Given the description of an element on the screen output the (x, y) to click on. 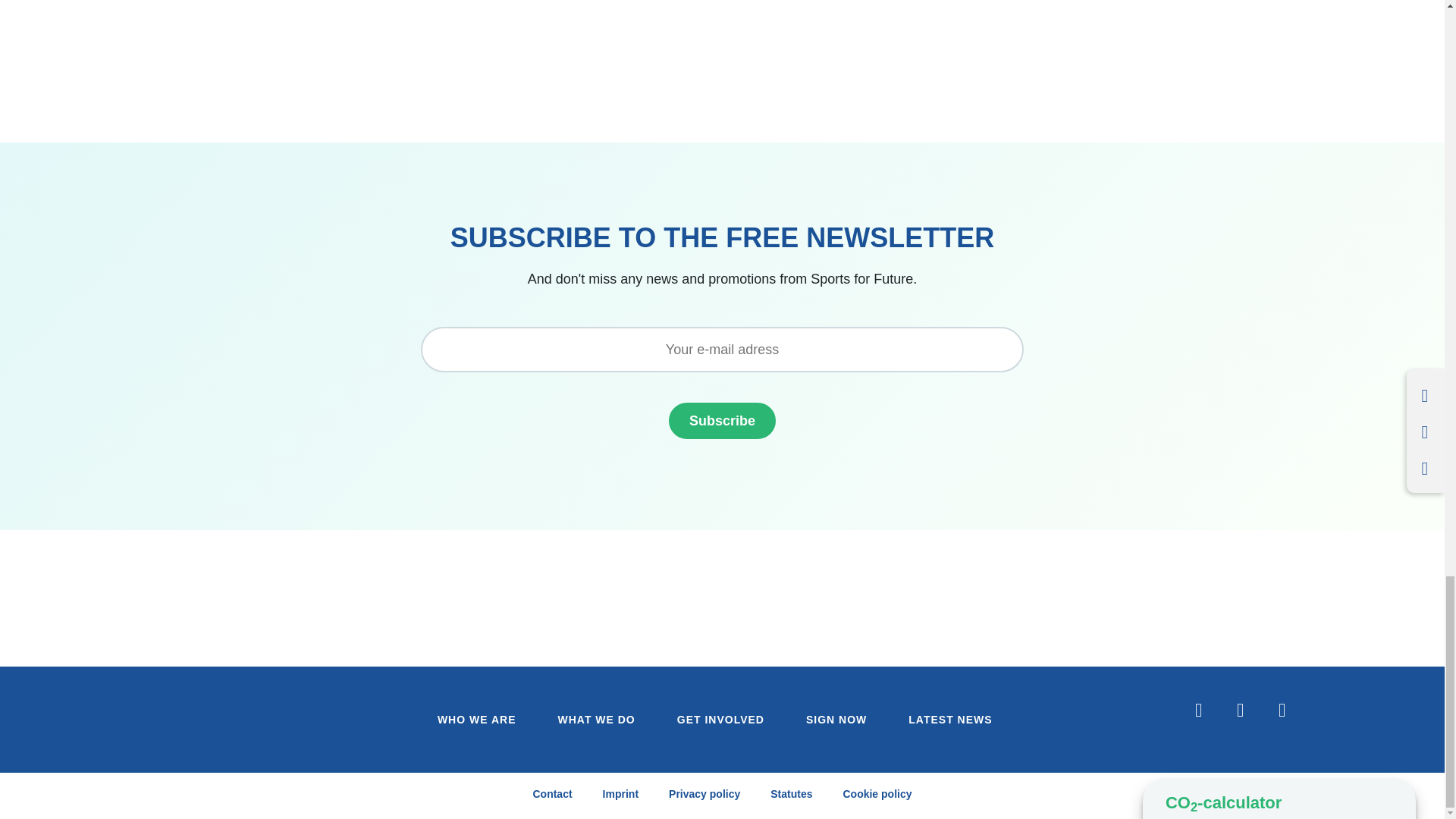
Subscribe (722, 420)
